Given the description of an element on the screen output the (x, y) to click on. 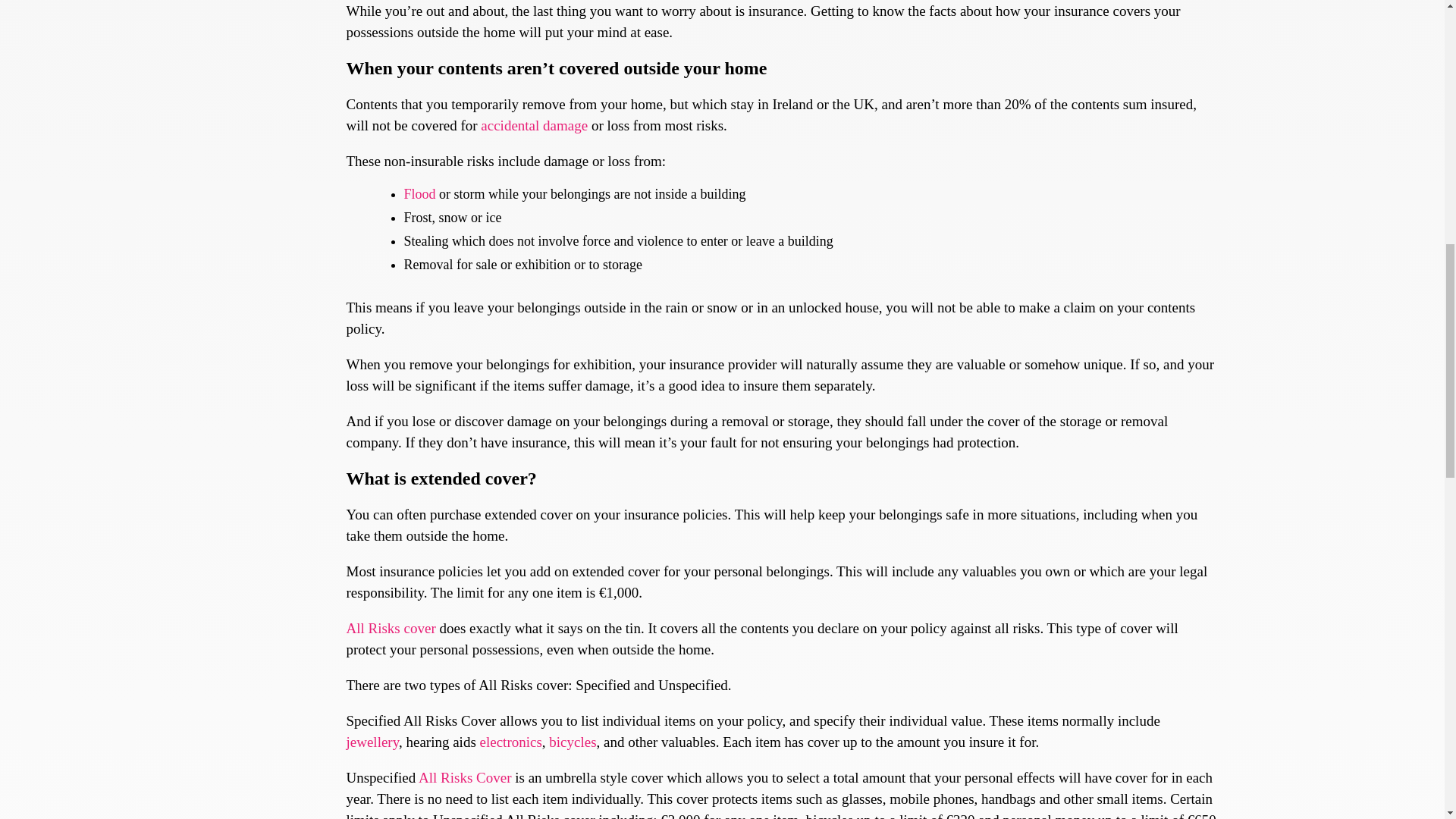
Flood (419, 193)
electronics (510, 741)
accidental damage (534, 125)
jewellery (371, 741)
All Risks cover (390, 627)
